Given the description of an element on the screen output the (x, y) to click on. 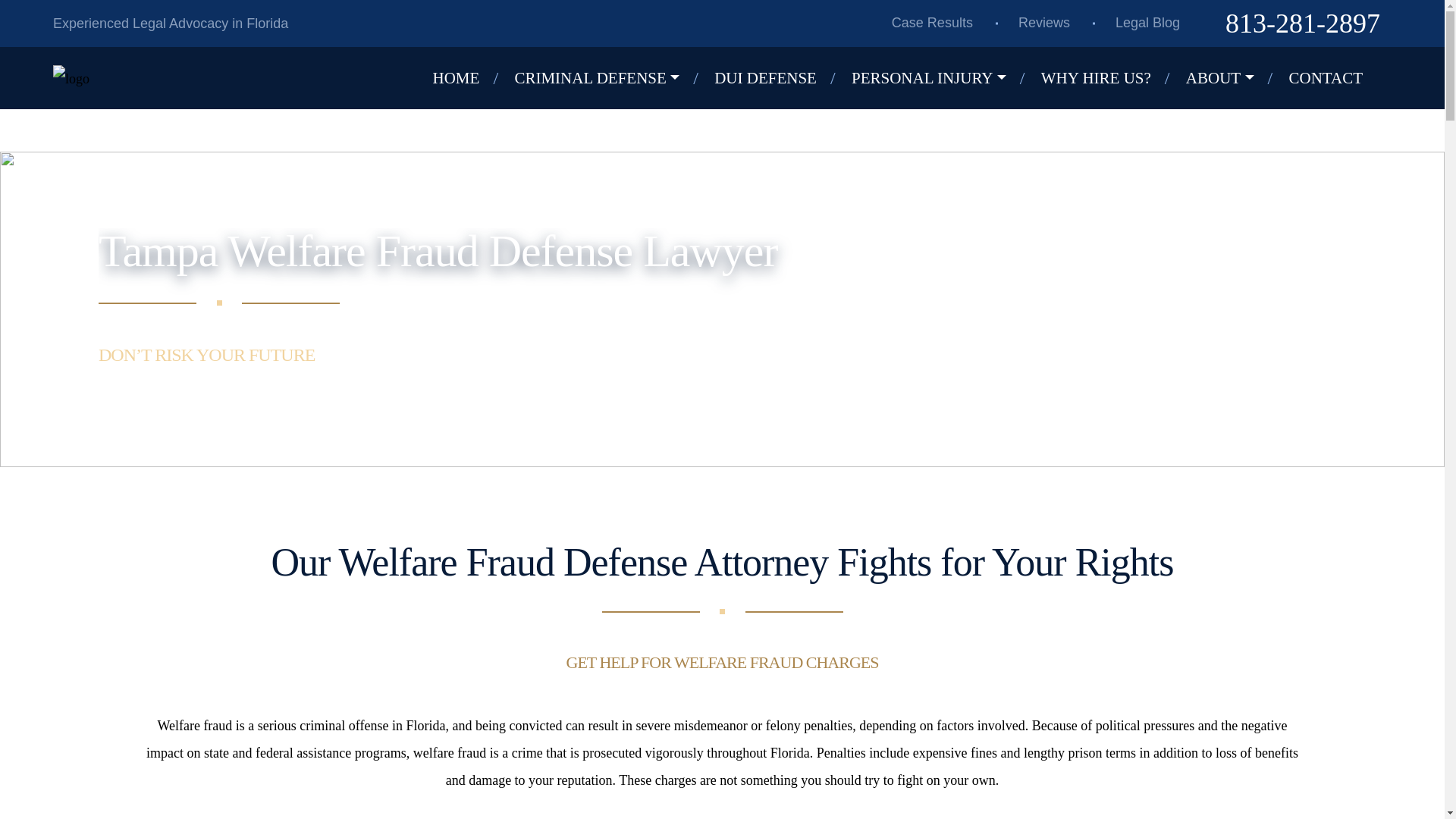
Home (467, 78)
Legal Blog (1147, 22)
ABOUT (1231, 78)
PERSONAL INJURY (940, 78)
HOME (467, 78)
Case Results (932, 22)
CONTACT (1337, 78)
CRIMINAL DEFENSE (607, 78)
813-281-2897 (1302, 23)
Criminal Defense (607, 78)
DUI DEFENSE (777, 78)
Reviews (1044, 22)
WHY HIRE US? (1107, 78)
